Given the description of an element on the screen output the (x, y) to click on. 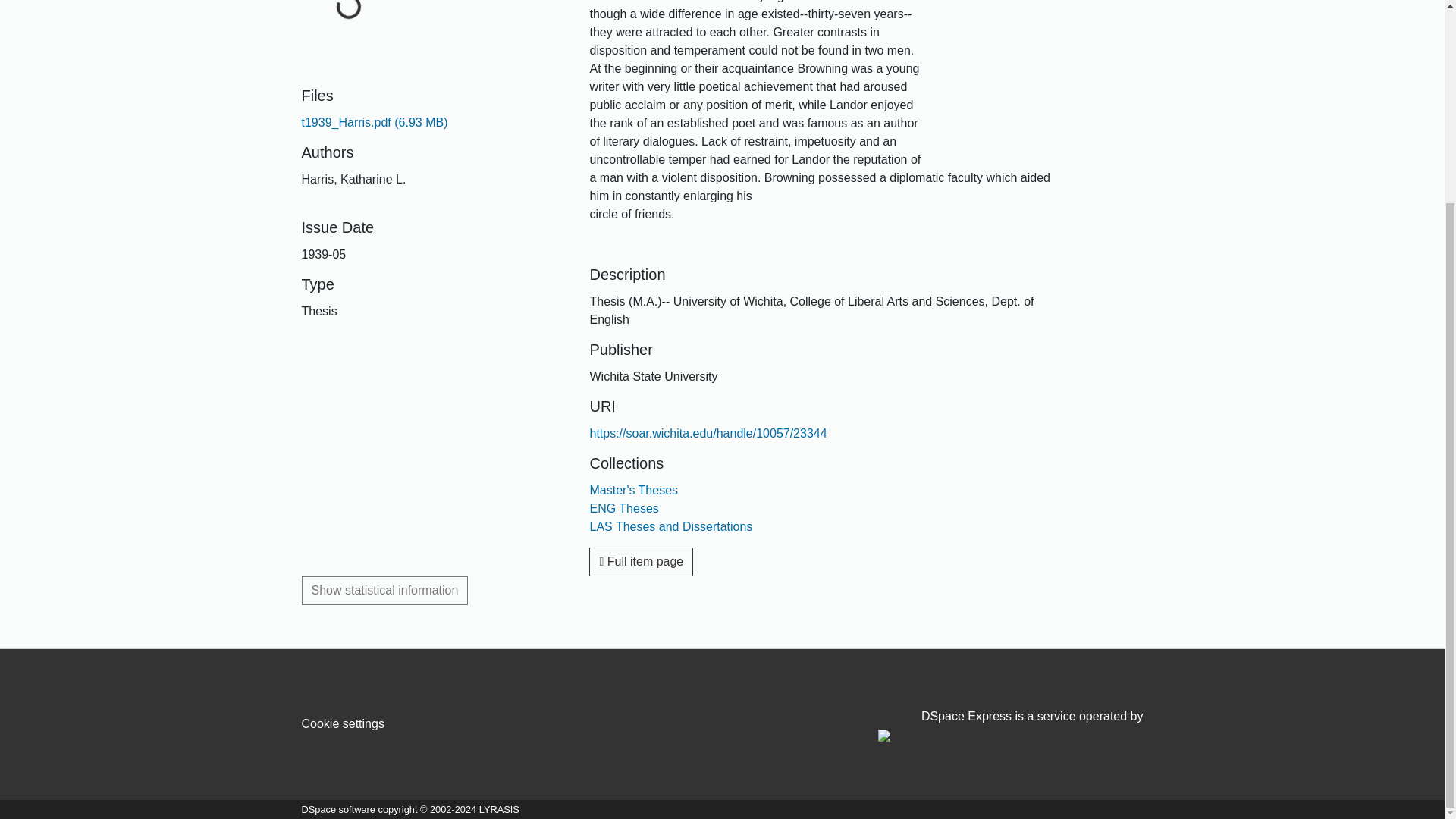
DSpace Express is a service operated by (1009, 726)
Full item page (641, 561)
ENG Theses (623, 508)
LAS Theses and Dissertations (670, 526)
Master's Theses (633, 490)
DSpace software (338, 808)
Show statistical information (384, 590)
LYRASIS (499, 808)
Cookie settings (342, 723)
